Given the description of an element on the screen output the (x, y) to click on. 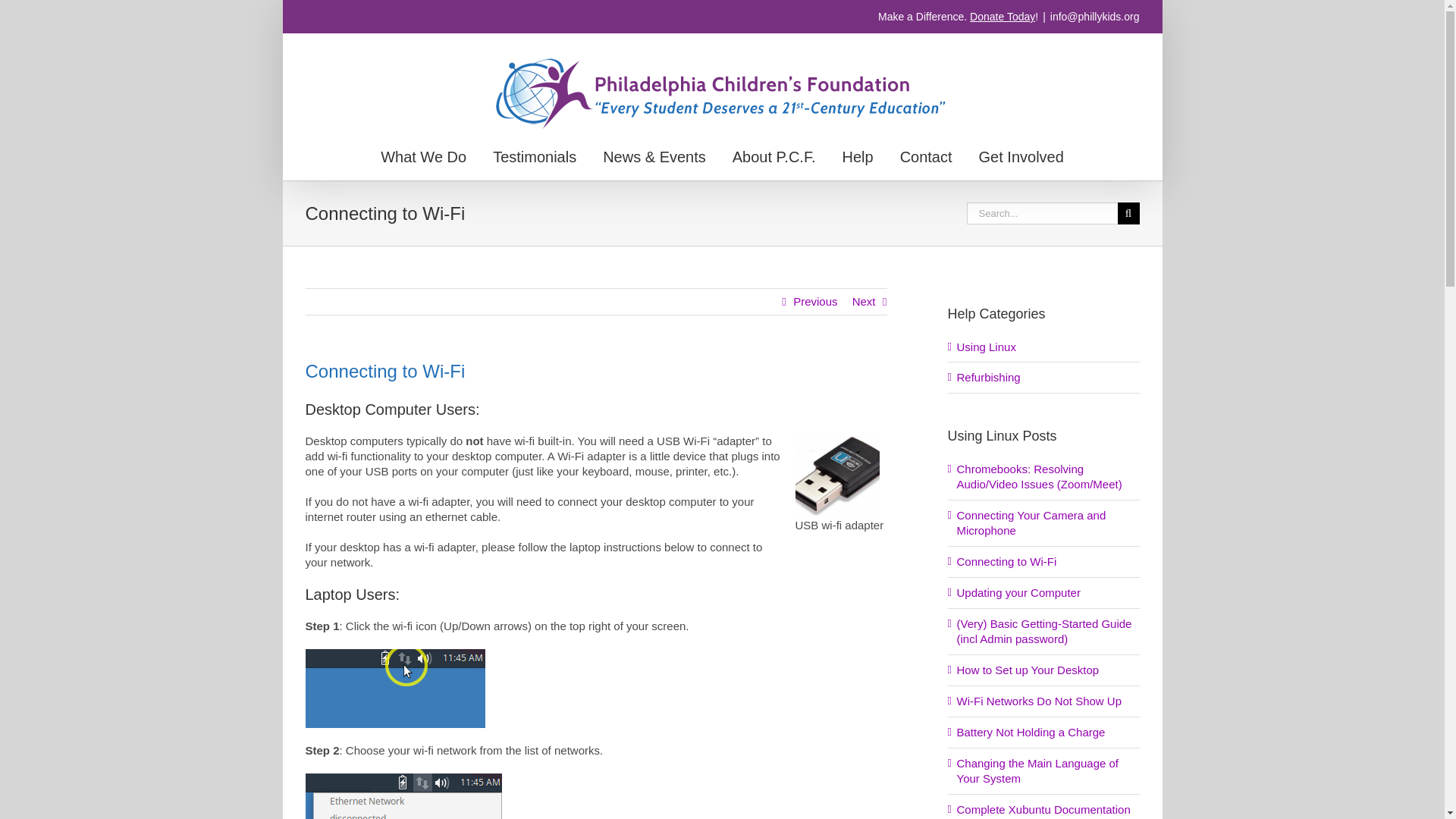
Contact (925, 156)
Permanent link to Updating your Computer (1018, 592)
Permanent link to Battery Not Holding a Charge (1030, 731)
Permanent link to Wi-Fi Networks Do Not Show Up (1039, 700)
Permanent link to Changing the Main Language of Your System (1037, 770)
Make a Difference. Donate Today! (957, 16)
About P.C.F. (773, 156)
Permanent link to How to Set up Your Desktop (1027, 669)
Permanent link to Connecting to Wi-Fi (1006, 561)
Permanent link to Complete Xubuntu Documentation (1043, 809)
Get Involved (1021, 156)
What We Do (422, 156)
Testimonials (534, 156)
Permanent link to Connecting Your Camera and Microphone (1031, 522)
